Given the description of an element on the screen output the (x, y) to click on. 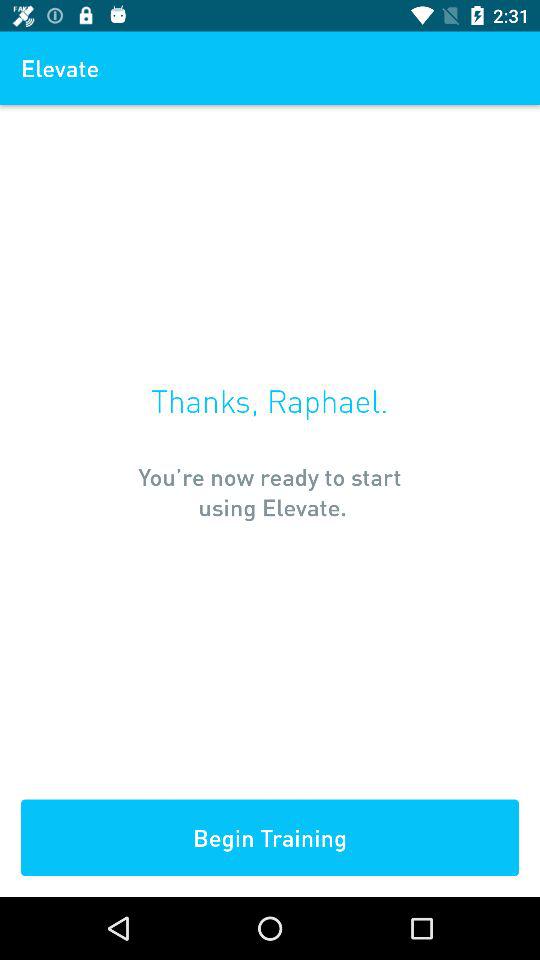
turn on begin training item (270, 837)
